Given the description of an element on the screen output the (x, y) to click on. 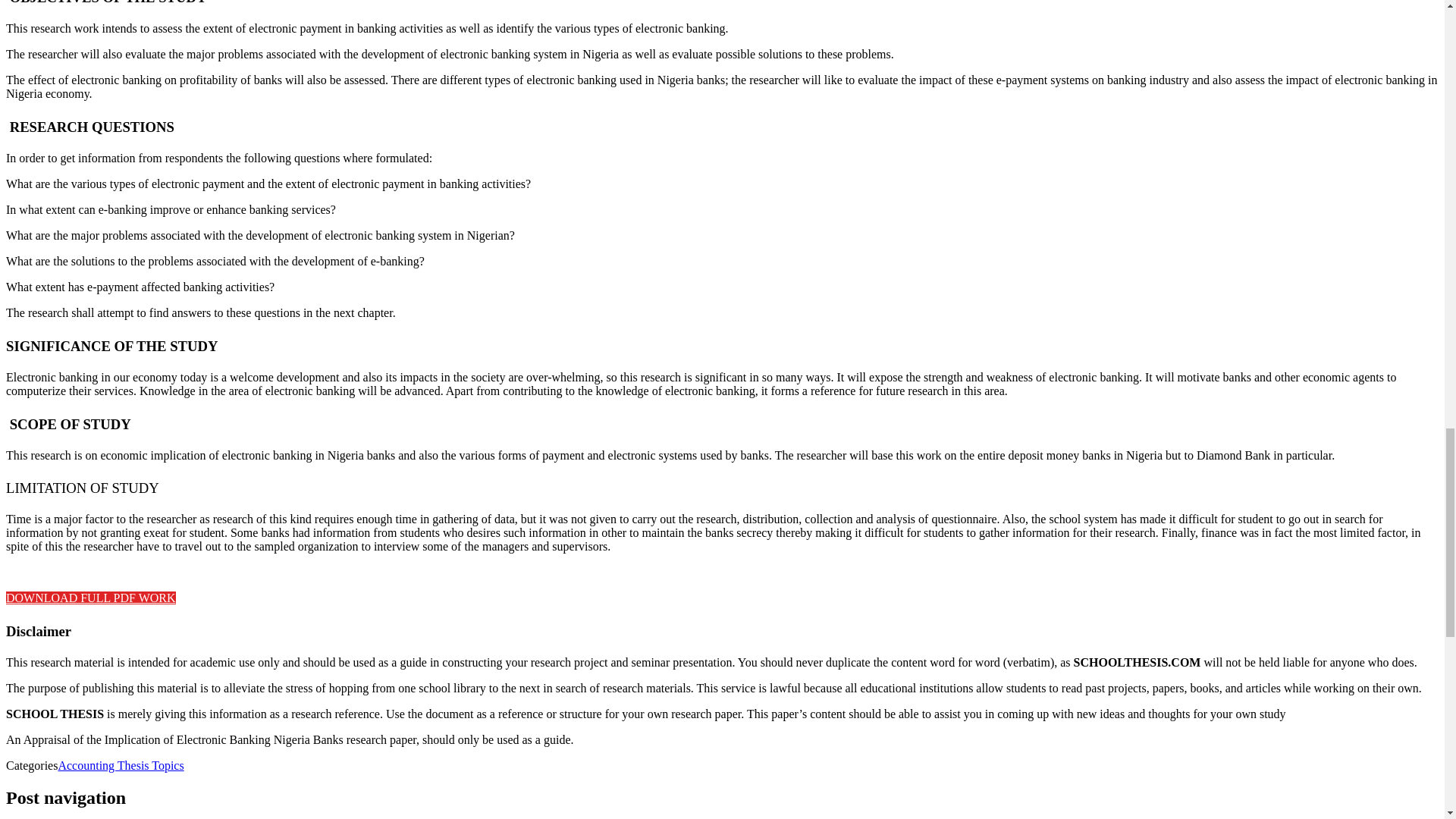
Accounting Thesis Topics (120, 765)
DOWNLOAD FULL PDF WORK (90, 597)
